Given the description of an element on the screen output the (x, y) to click on. 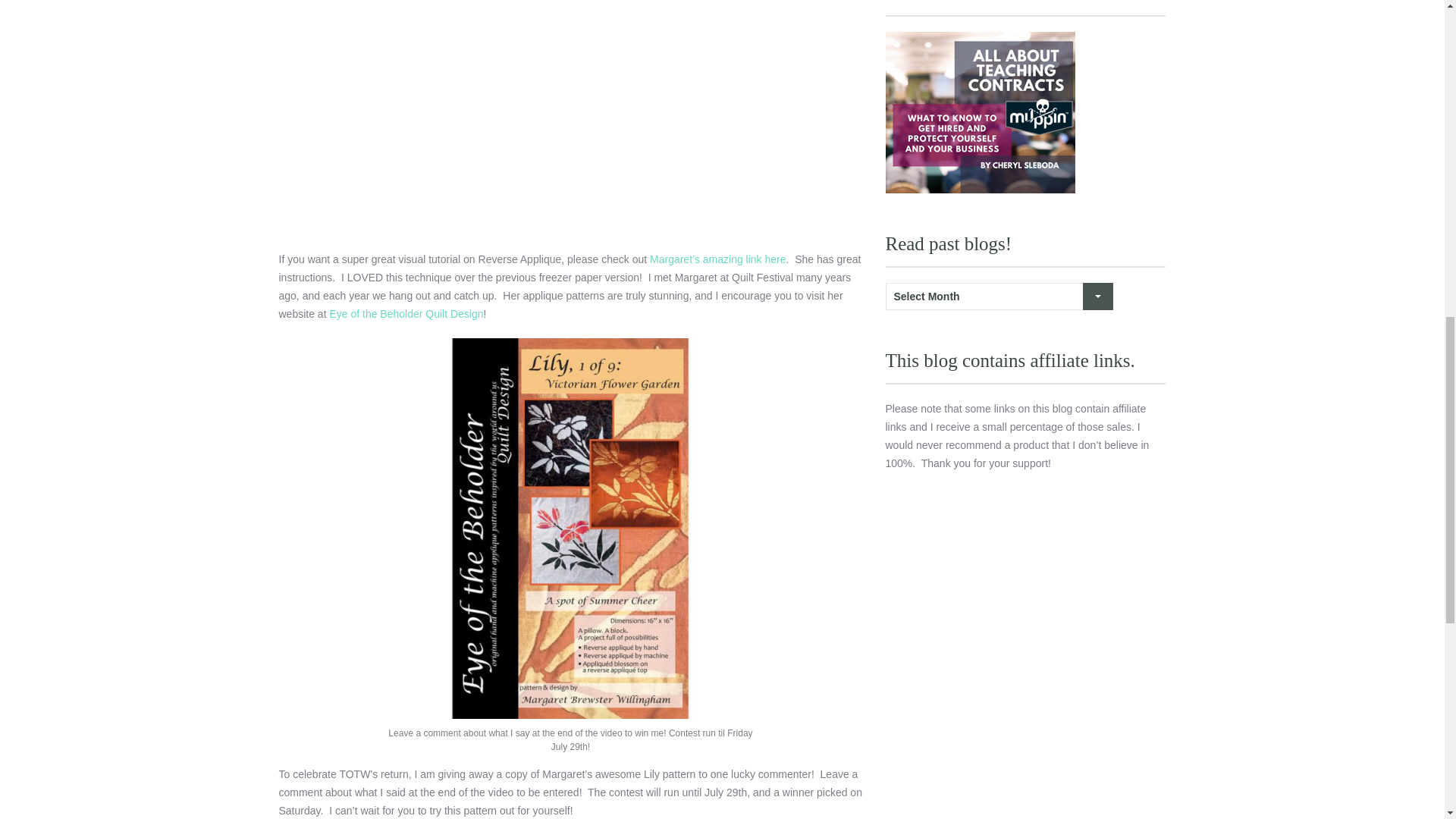
Eye of the Beholder Quilt Design (406, 313)
